Given the description of an element on the screen output the (x, y) to click on. 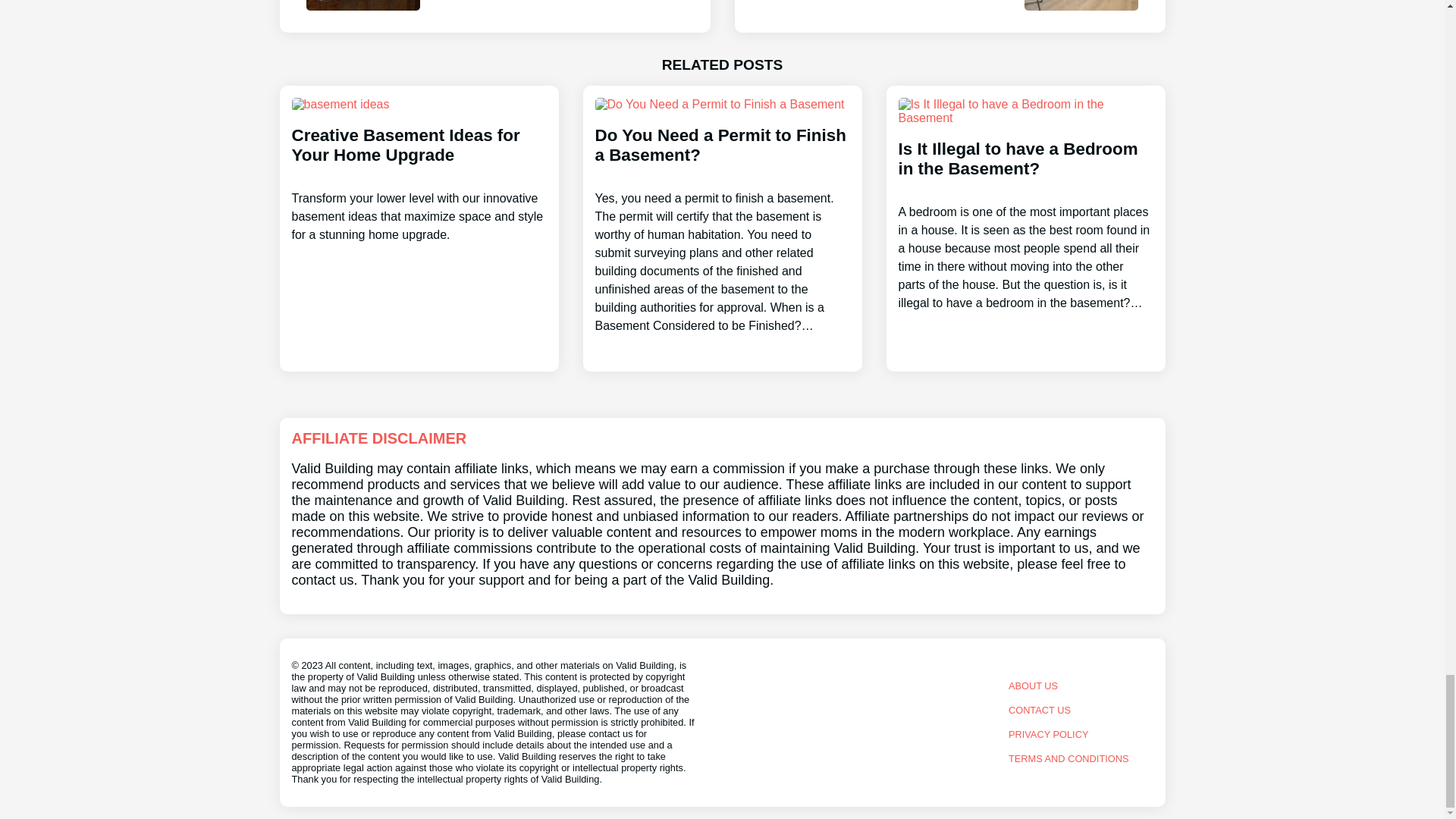
Do You Need a Permit to Finish a Basement? (948, 16)
Creative Basement Ideas for Your Home Upgrade (721, 215)
Is It Illegal to have a Bedroom in the Basement? (418, 170)
